Given the description of an element on the screen output the (x, y) to click on. 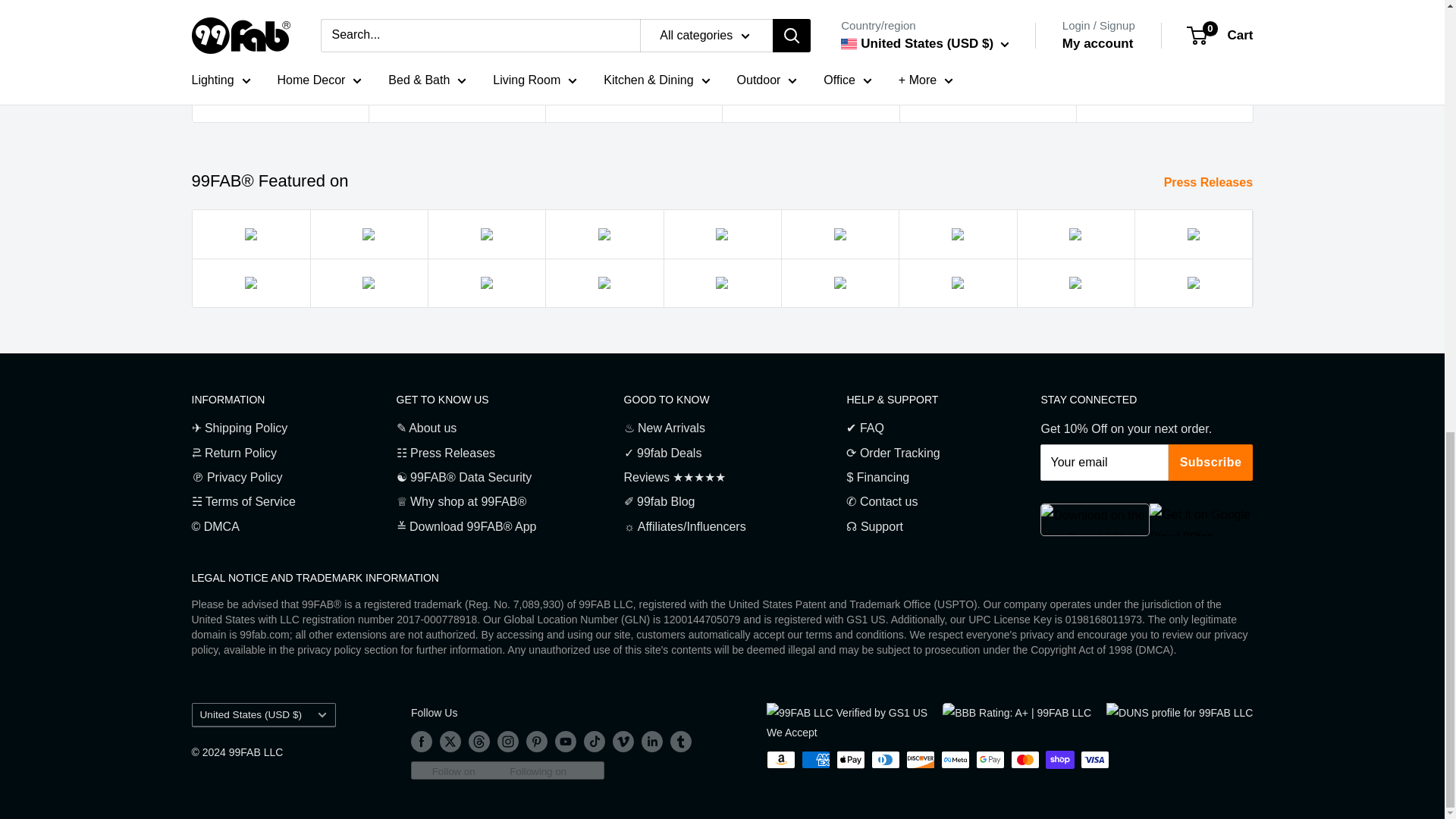
99FAB LLC Verified by GS1 US (847, 712)
Download on the App Store (1095, 519)
DUNS profile for 99FAB LLC (1179, 712)
Get it on Google Play (1201, 519)
